Given the description of an element on the screen output the (x, y) to click on. 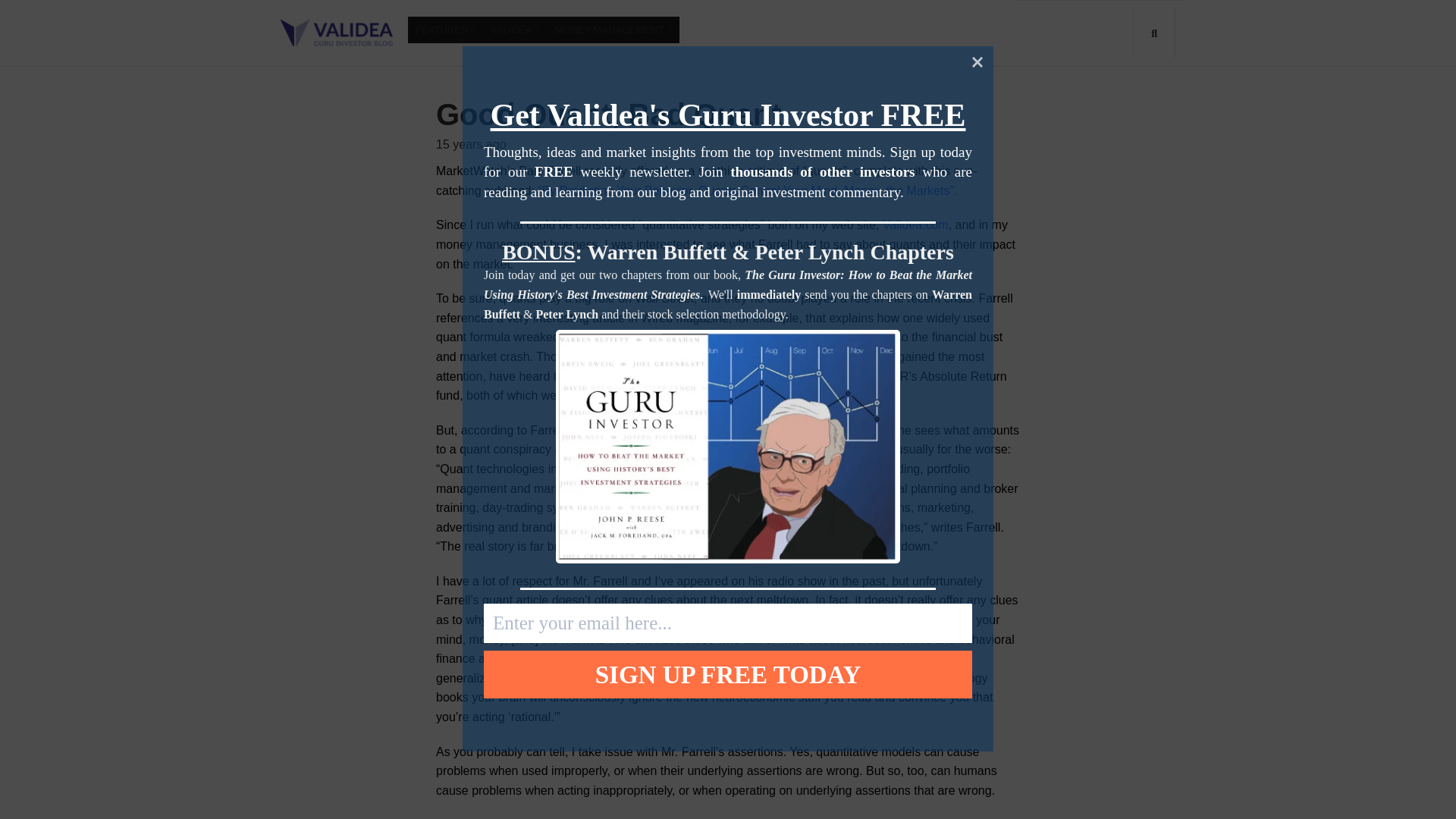
Validea.com (915, 224)
MONEY MANAGEMENT (612, 29)
15 years ago (470, 144)
Sign Up FREE Today (727, 674)
Close (977, 61)
FEATURED (445, 29)
VALIDEA (515, 29)
